Given the description of an element on the screen output the (x, y) to click on. 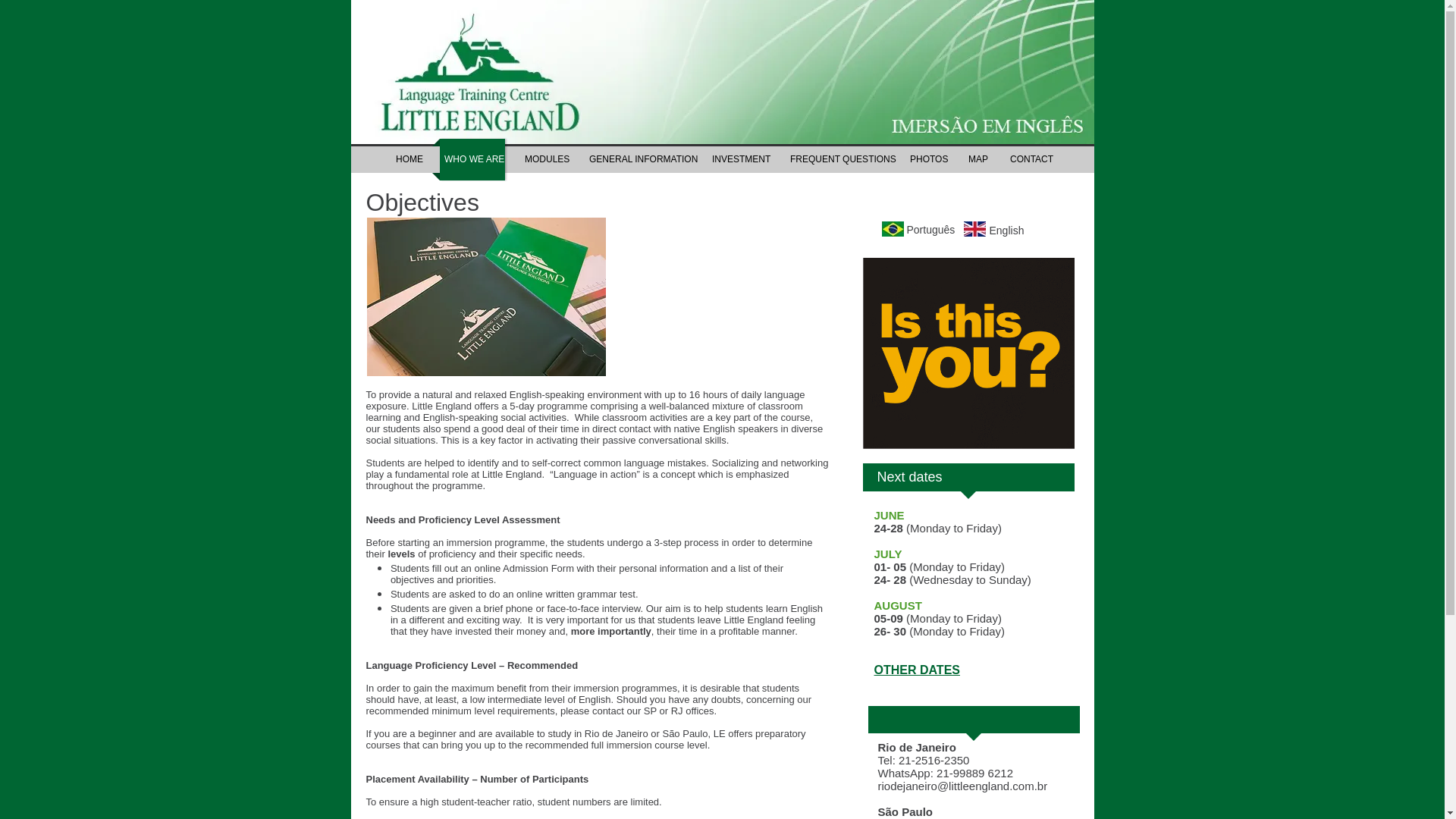
MODULES (544, 159)
bandeiraENGLAND20.jpg (973, 228)
HOME (408, 159)
INVESTMENT (738, 159)
GENERAL INFORMATION (638, 159)
WHO WE ARE (472, 159)
OTHER DATES (916, 669)
CONTACT (1029, 159)
PHOTOS (927, 159)
FREQUENT QUESTIONS (837, 159)
